Given the description of an element on the screen output the (x, y) to click on. 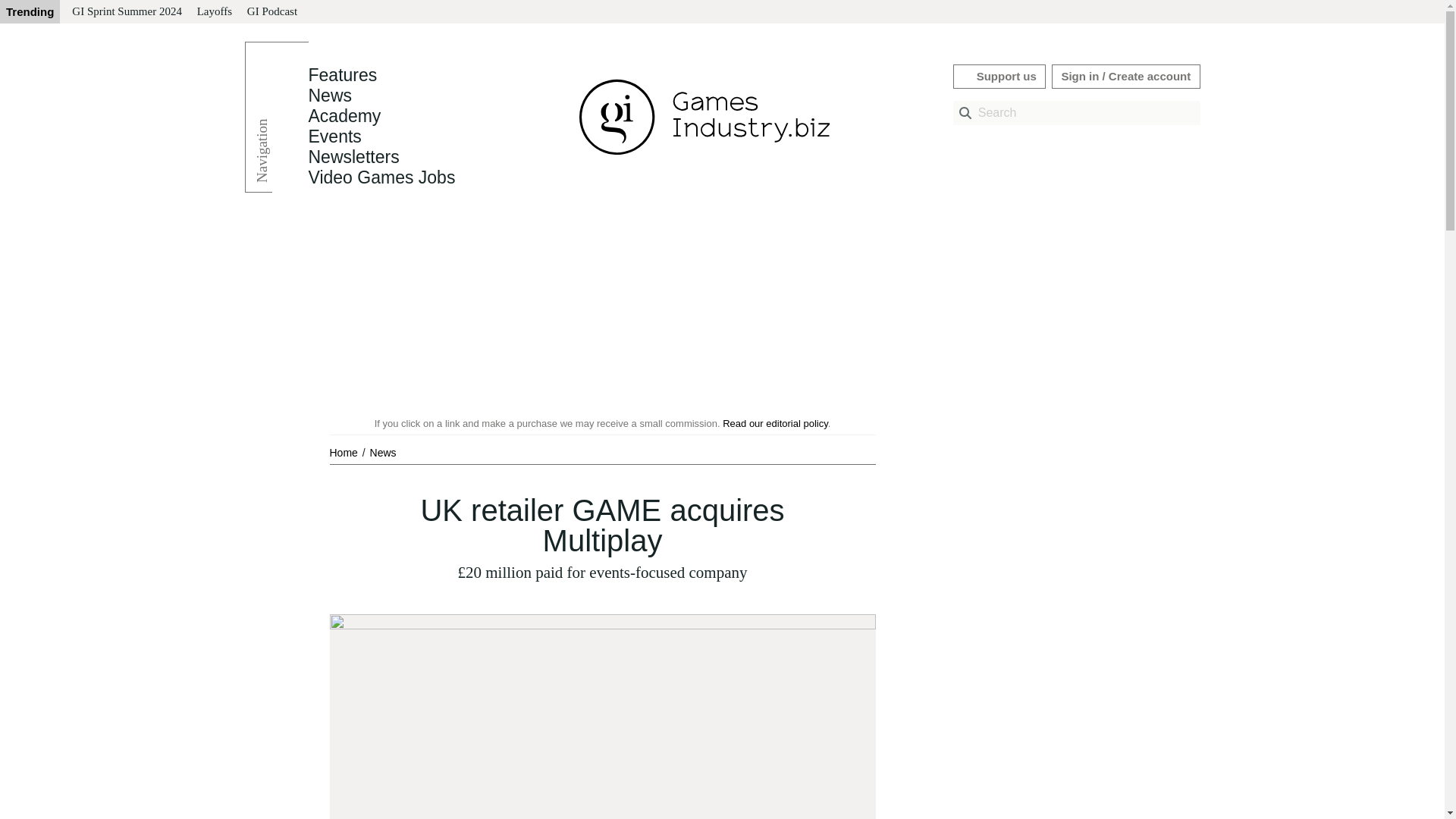
News (382, 452)
Features (342, 75)
Academy (343, 116)
GI Sprint Summer 2024 (126, 11)
Academy (343, 116)
Video Games Jobs (380, 177)
Read our editorial policy (775, 423)
News (382, 452)
Features (342, 75)
News (329, 95)
Home (344, 452)
News (329, 95)
GI Podcast (271, 11)
Video Games Jobs (380, 177)
GI Sprint Summer 2024 (126, 11)
